Given the description of an element on the screen output the (x, y) to click on. 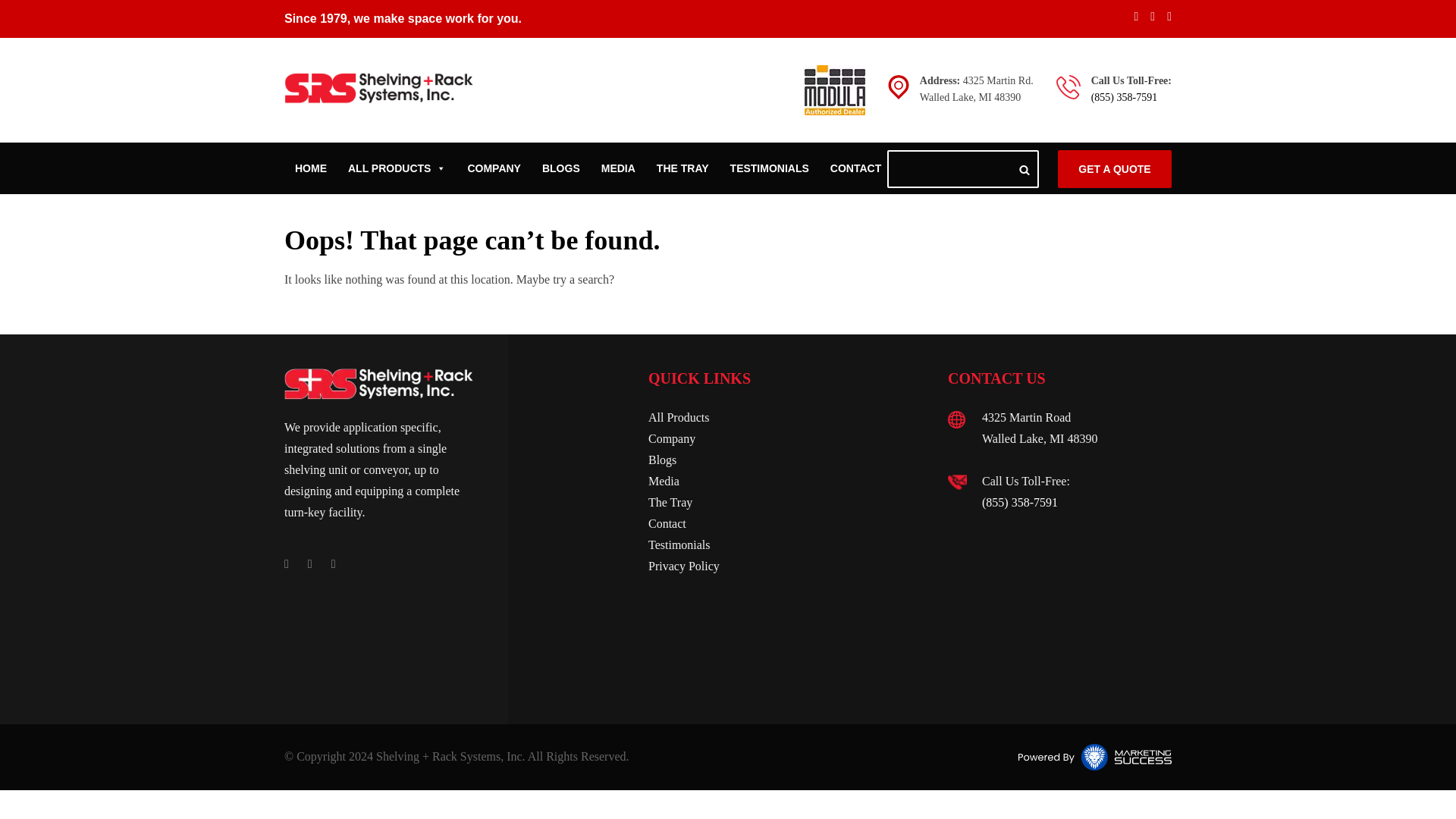
ALL PRODUCTS (397, 168)
Search (1024, 169)
Search (1024, 169)
Search for: (962, 168)
HOME (310, 168)
